Given the description of an element on the screen output the (x, y) to click on. 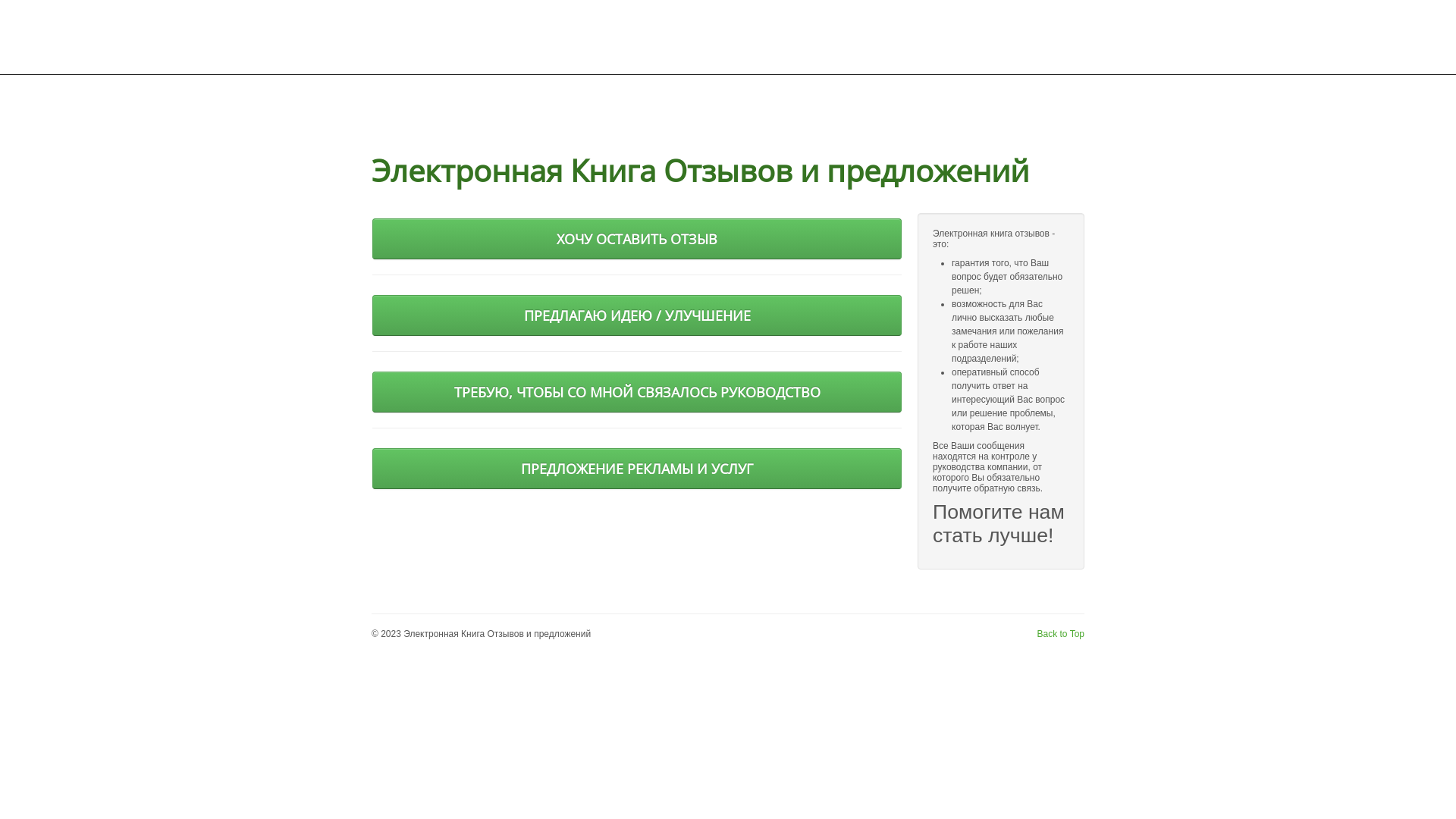
Back to Top Element type: text (1060, 633)
